Given the description of an element on the screen output the (x, y) to click on. 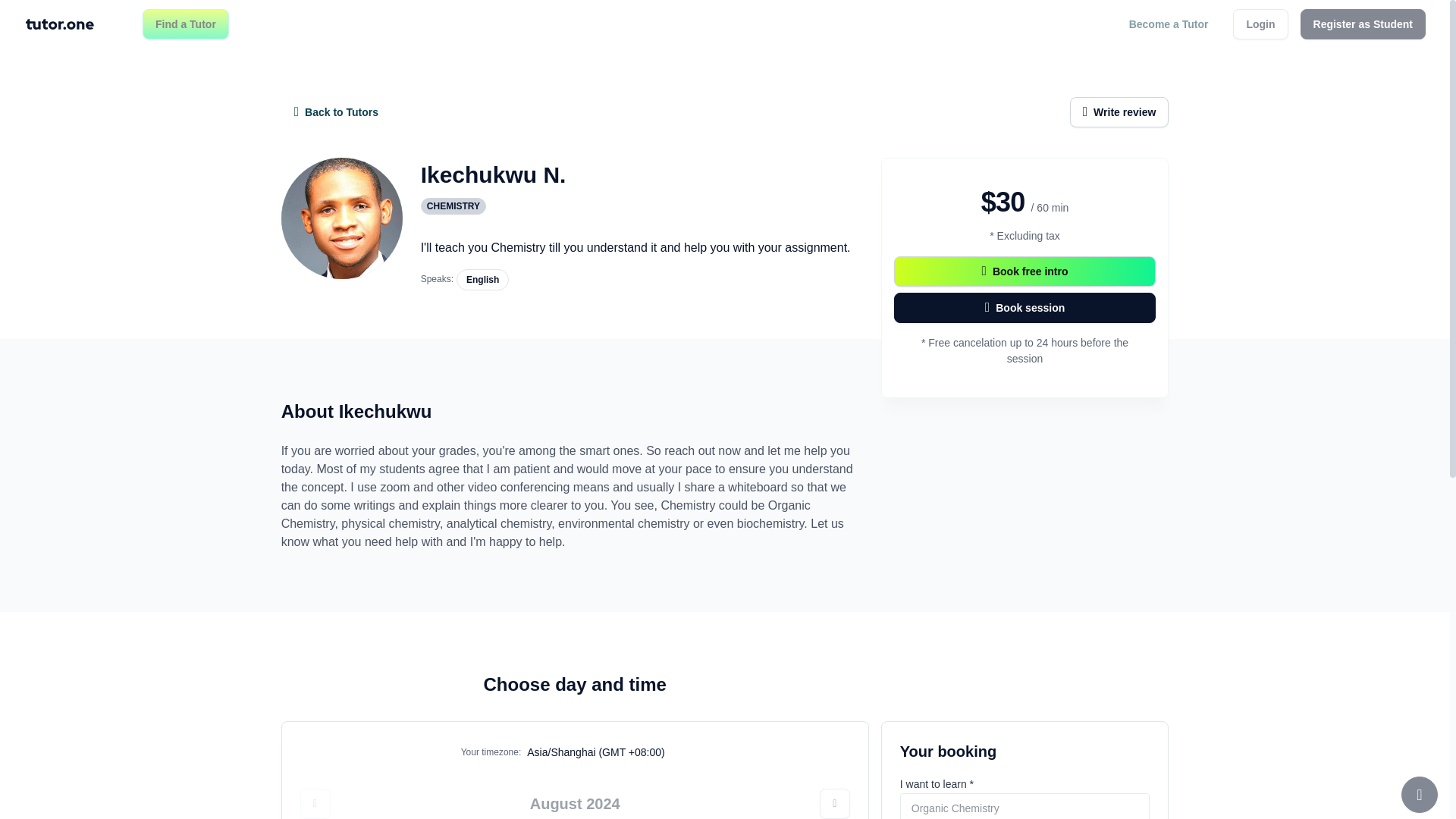
Next (834, 803)
Become a Tutor (1168, 24)
Login (1260, 24)
Previous (314, 803)
Back to Tutors (336, 112)
Find a Tutor (185, 24)
Book session (1024, 307)
Write review (1119, 112)
Previous (314, 803)
Next (834, 803)
